Given the description of an element on the screen output the (x, y) to click on. 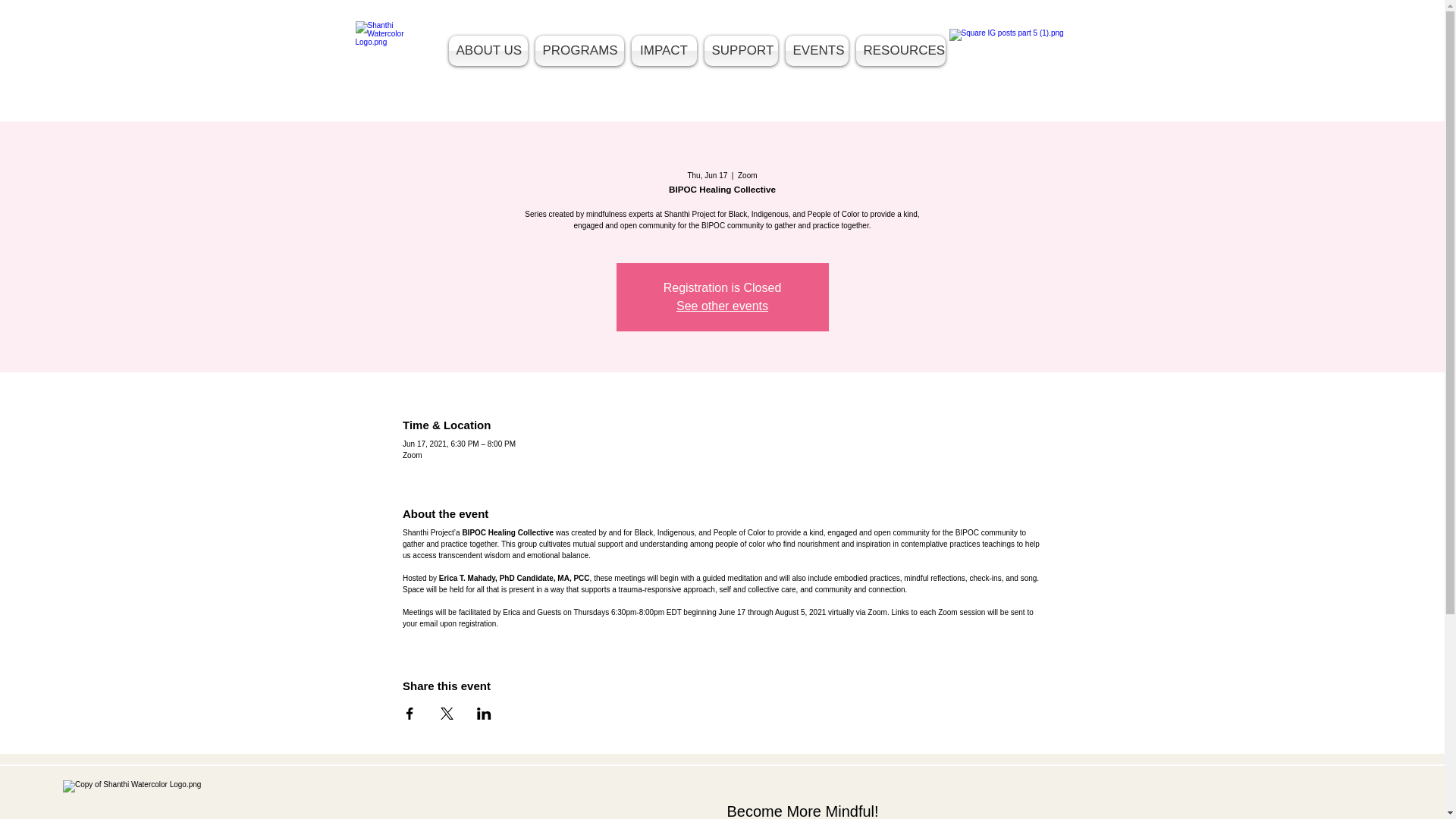
IMPACT (663, 51)
ABOUT US (487, 51)
PROGRAMS (579, 51)
RESOURCES (900, 51)
See other events (722, 305)
